Given the description of an element on the screen output the (x, y) to click on. 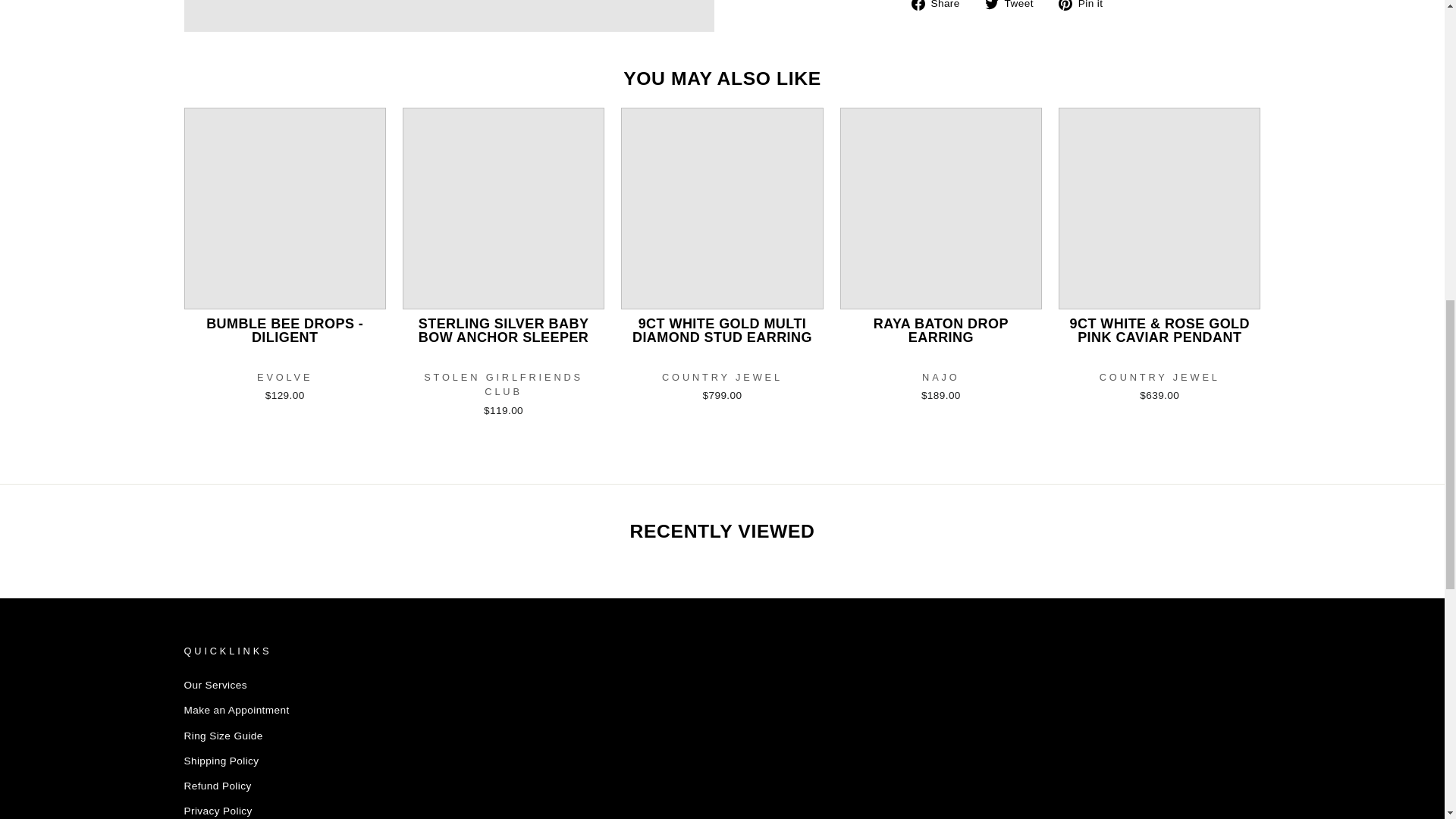
Tweet on Twitter (1015, 6)
Pin on Pinterest (1085, 6)
Share on Facebook (941, 6)
